Given the description of an element on the screen output the (x, y) to click on. 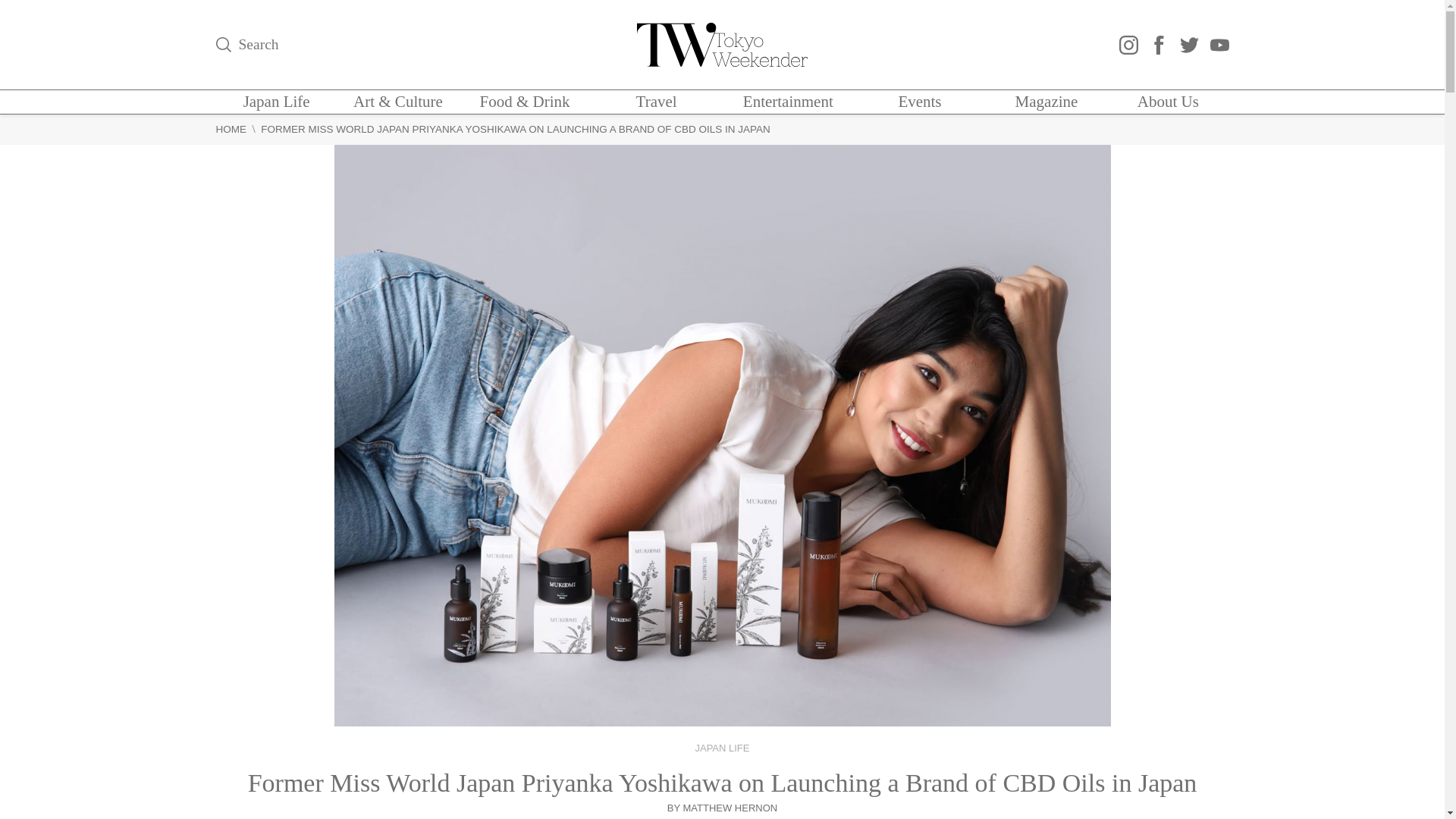
Magazine (1046, 101)
Japan Life (276, 101)
Events (919, 101)
About Us (1167, 101)
Travel (656, 101)
Entertainment (787, 101)
